Given the description of an element on the screen output the (x, y) to click on. 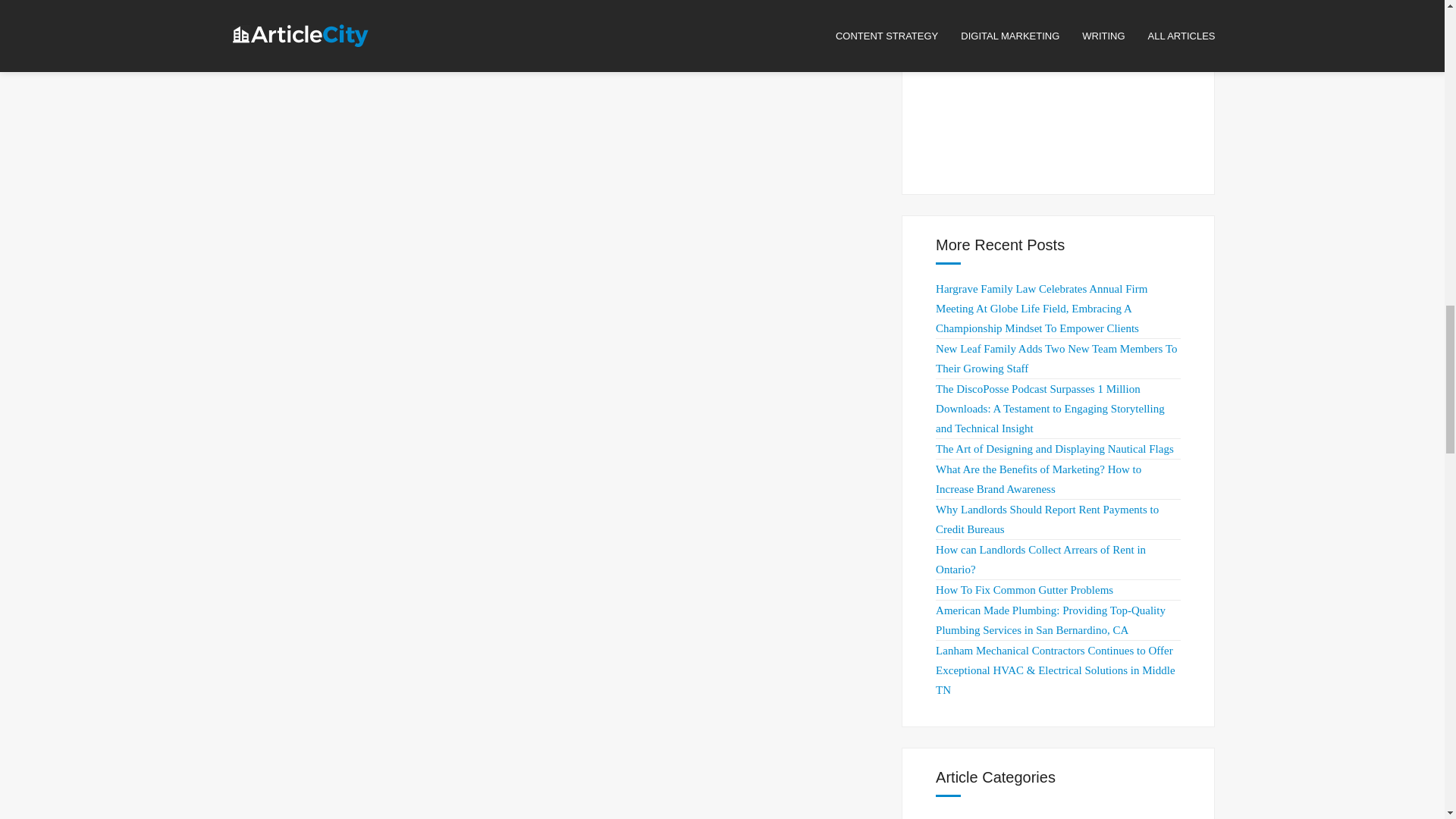
How To Fix Common Gutter Problems (1024, 589)
The Art of Designing and Displaying Nautical Flags (1054, 449)
Why Landlords Should Report Rent Payments to Credit Bureaus (1047, 519)
How can Landlords Collect Arrears of Rent in Ontario? (1040, 559)
